Given the description of an element on the screen output the (x, y) to click on. 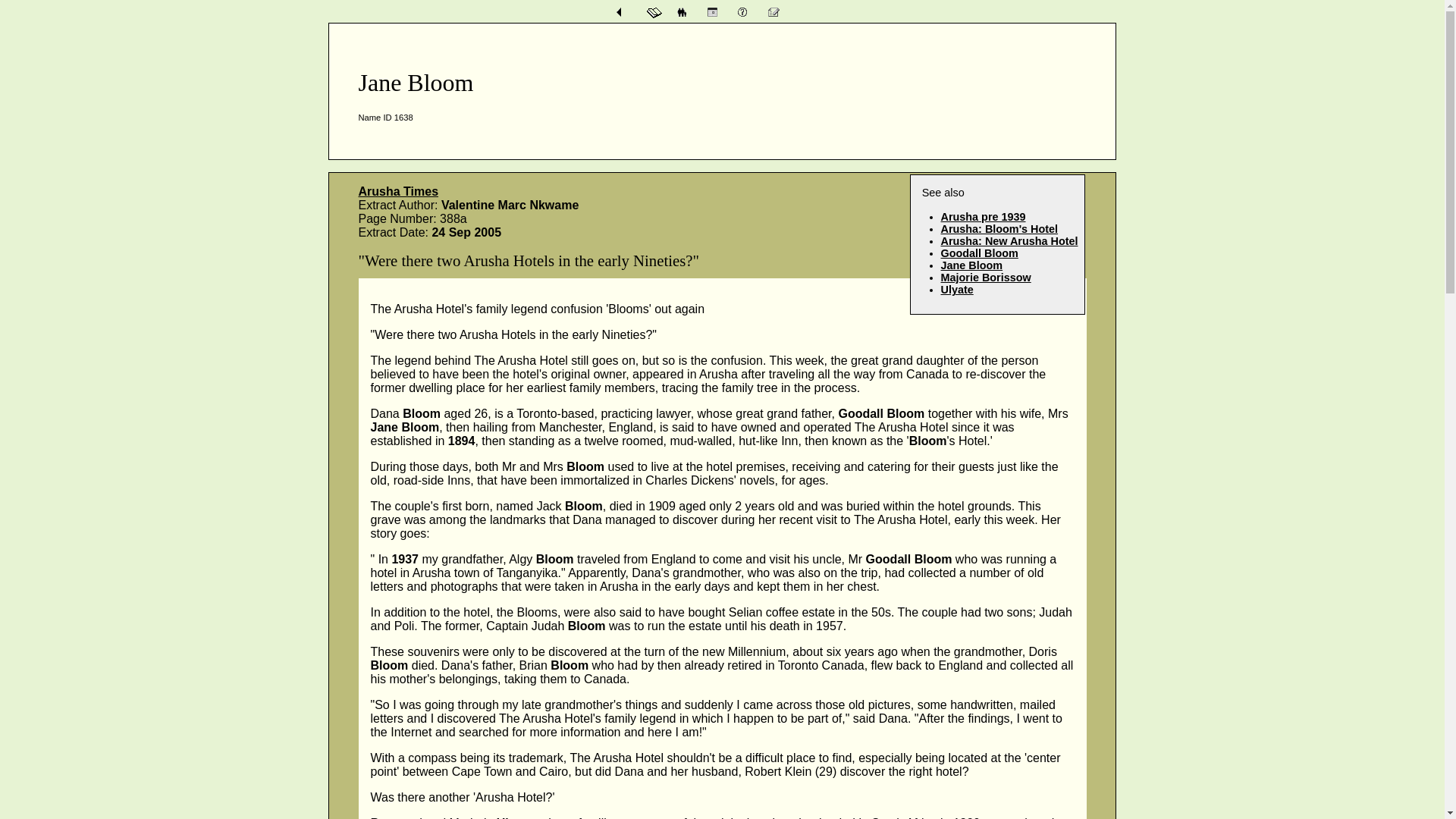
1937 (983, 216)
Jane Bloom (971, 265)
Goodall Bloom (978, 253)
Majorie Borissow (985, 277)
1927 (1009, 241)
24 Sep 2005 (985, 277)
Arusha: New Arusha Hotel (1009, 241)
Arusha Times (398, 191)
Arusha pre 1939 (983, 216)
1894 (999, 228)
